Given the description of an element on the screen output the (x, y) to click on. 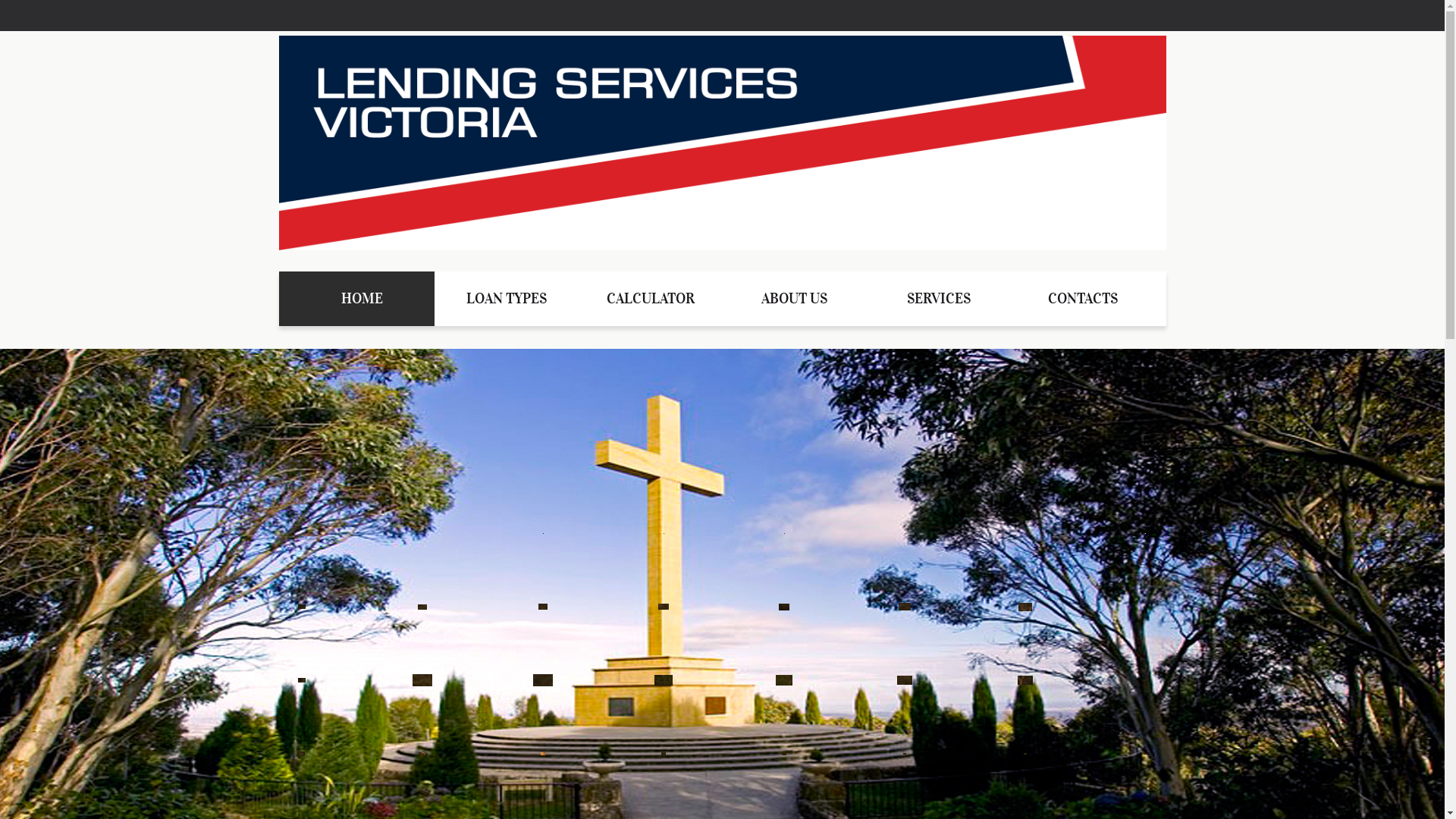
ABOUT US Element type: text (793, 298)
CALCULATOR Element type: text (649, 298)
SERVICES Element type: text (938, 298)
HOME Element type: text (356, 298)
CONTACTS Element type: text (1087, 298)
We understand your needs Element type: hover (722, 142)
LOAN TYPES Element type: text (505, 298)
